Given the description of an element on the screen output the (x, y) to click on. 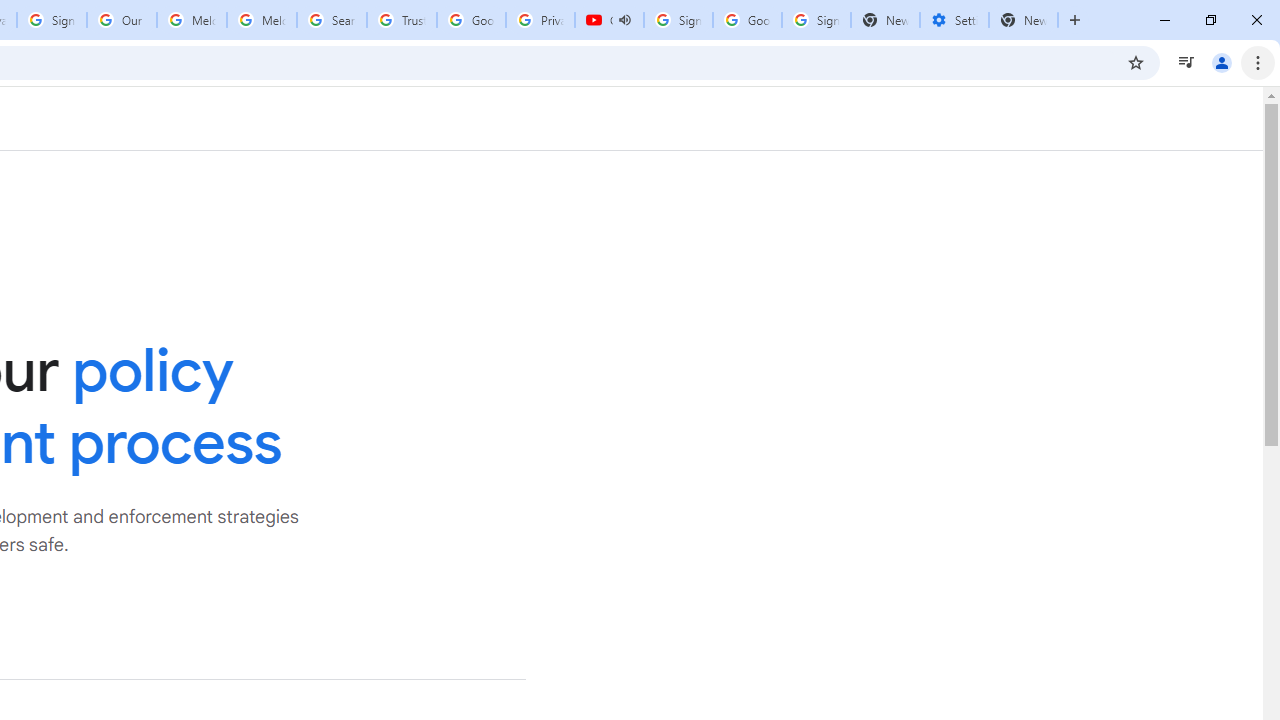
Search our Doodle Library Collection - Google Doodles (332, 20)
Sign in - Google Accounts (677, 20)
New Tab (1023, 20)
Google Cybersecurity Innovations - Google Safety Center (747, 20)
Sign in - Google Accounts (51, 20)
Settings - Addresses and more (954, 20)
Google Ads - Sign in (470, 20)
